Given the description of an element on the screen output the (x, y) to click on. 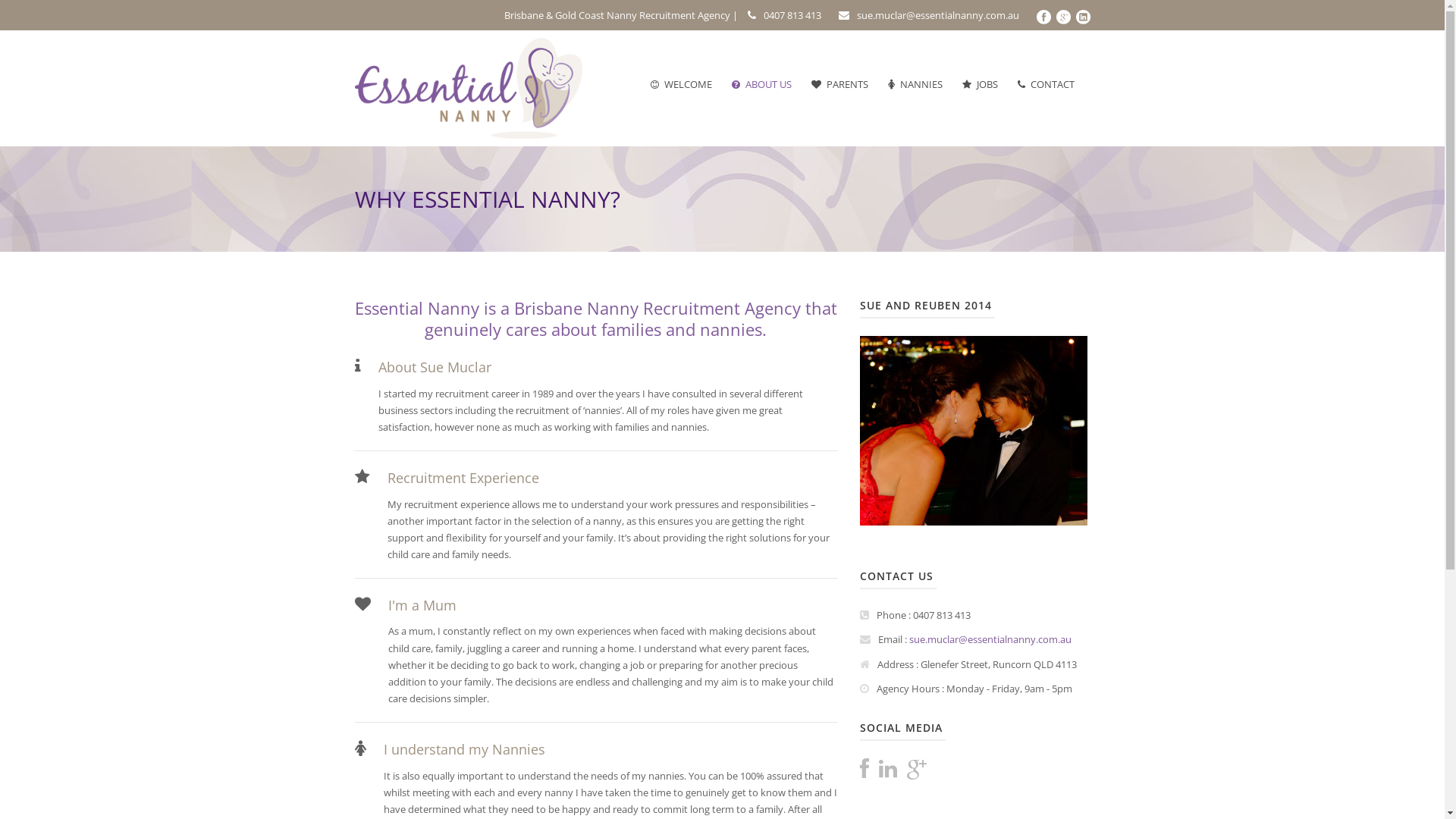
sue.muclar@essentialnanny.com.au Element type: text (937, 14)
WELCOME Element type: text (680, 84)
CONTACT Element type: text (1045, 84)
JOBS Element type: text (979, 84)
NANNIES Element type: text (915, 84)
sue.muclar@essentialnanny.com.au Element type: text (990, 639)
PARENTS Element type: text (838, 84)
ABOUT US Element type: text (761, 84)
